Given the description of an element on the screen output the (x, y) to click on. 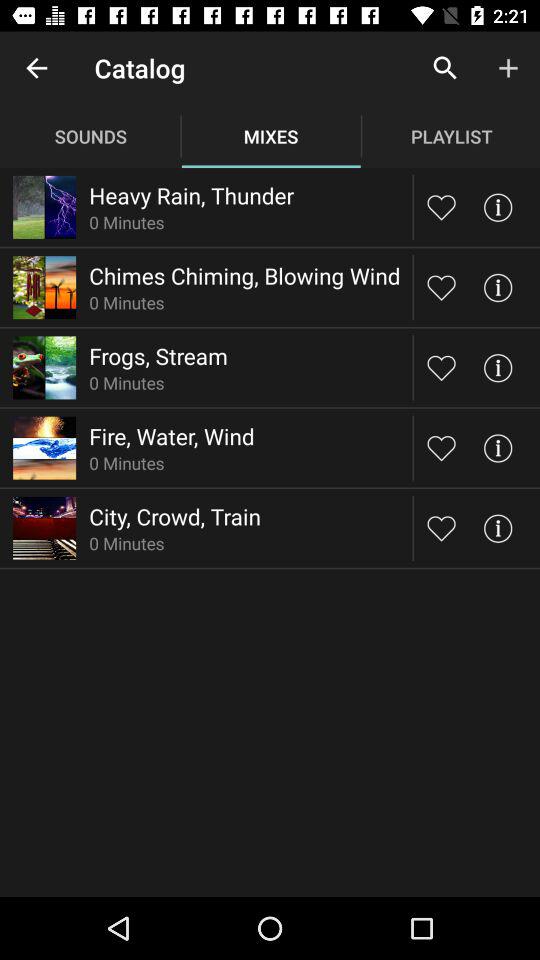
love (441, 527)
